Given the description of an element on the screen output the (x, y) to click on. 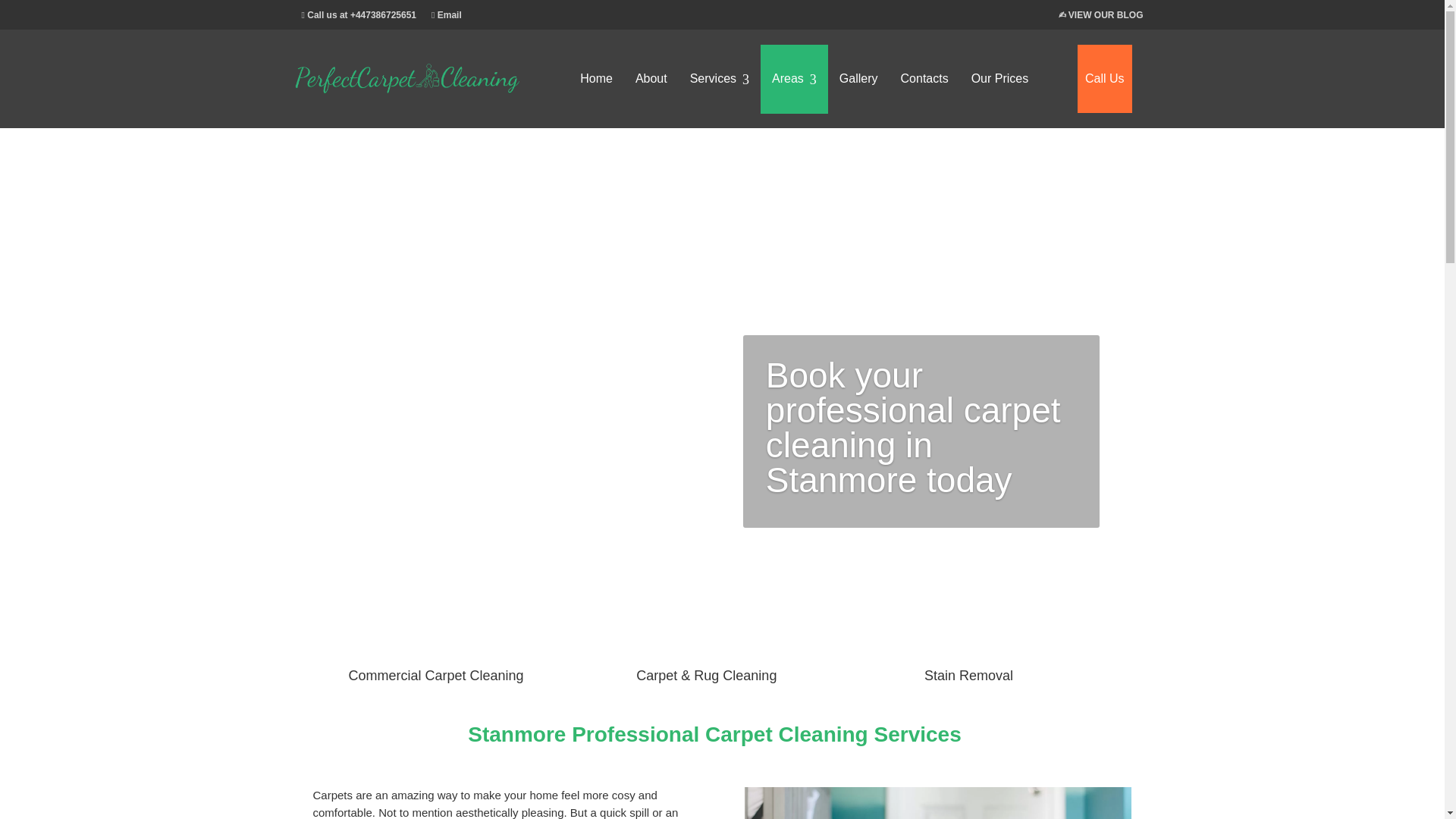
Services (719, 79)
Search (1308, 607)
Perfect Carpet Cleaning (608, 88)
Areas (794, 79)
